Given the description of an element on the screen output the (x, y) to click on. 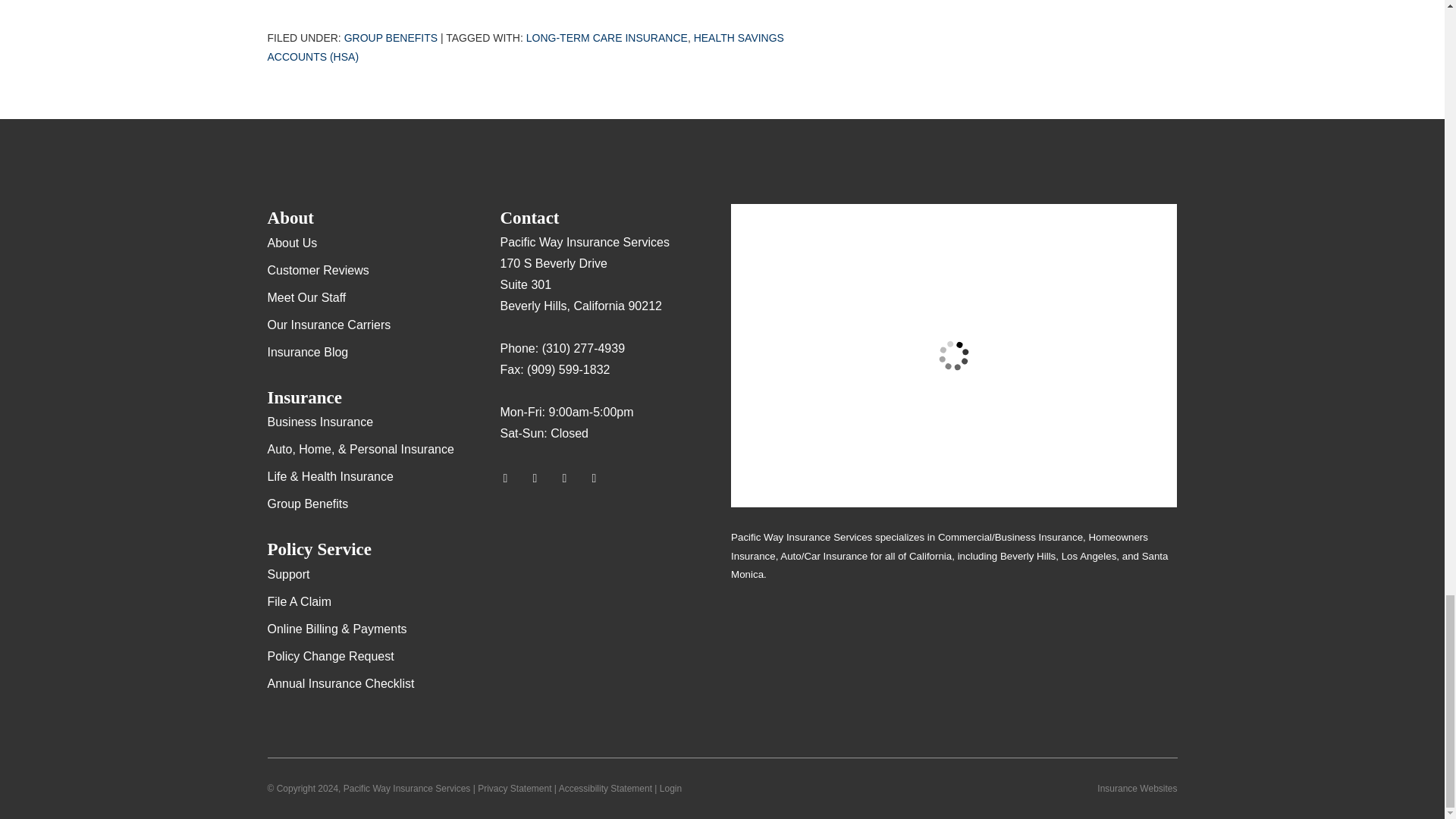
Group Benefits (390, 37)
Facebook (571, 478)
Google Maps (511, 478)
YouTube (600, 478)
Yelp (541, 478)
Long-Term Care Insurance (606, 37)
